Given the description of an element on the screen output the (x, y) to click on. 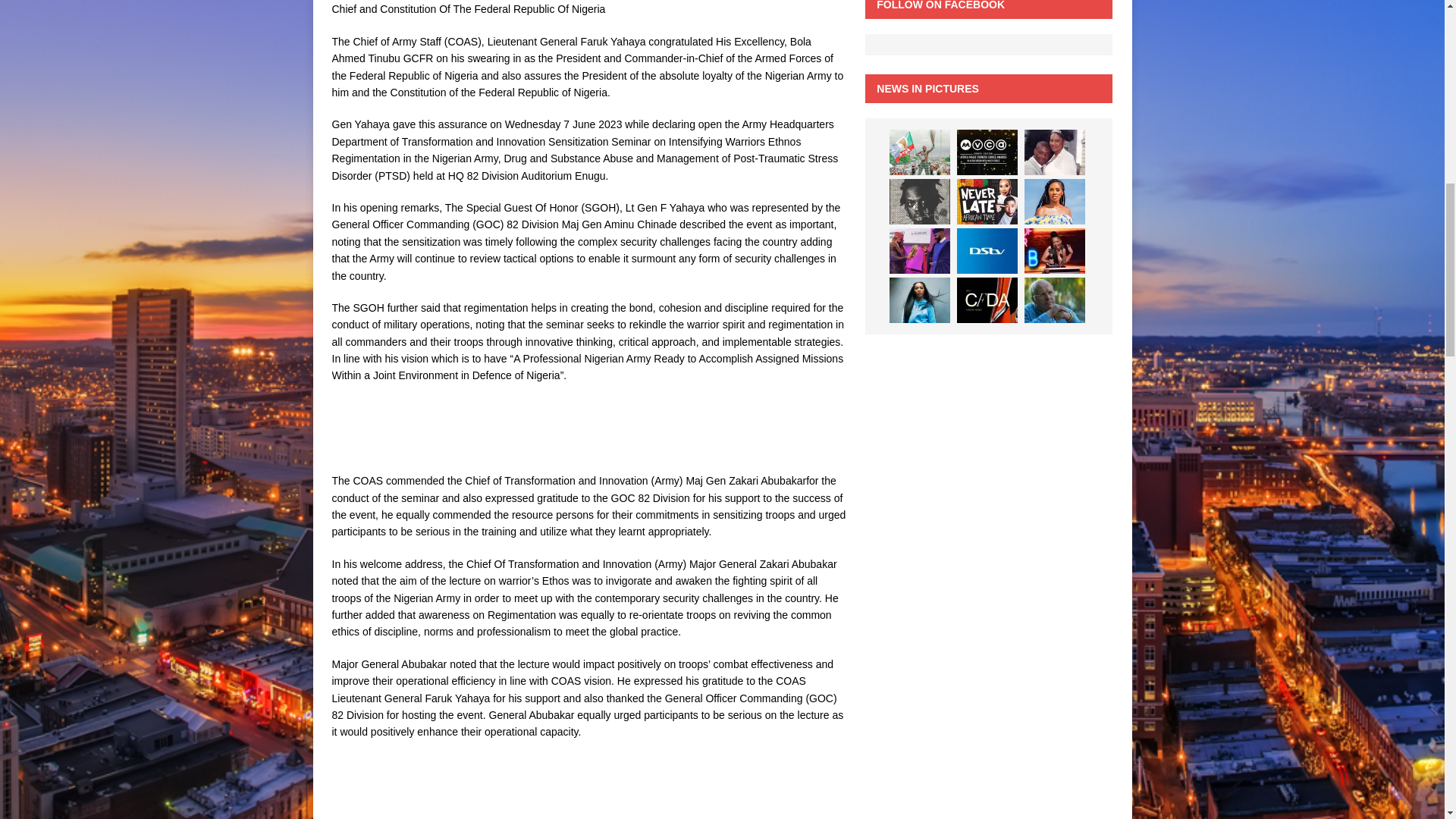
Advertisement (407, 433)
Advertisement (407, 787)
